Given the description of an element on the screen output the (x, y) to click on. 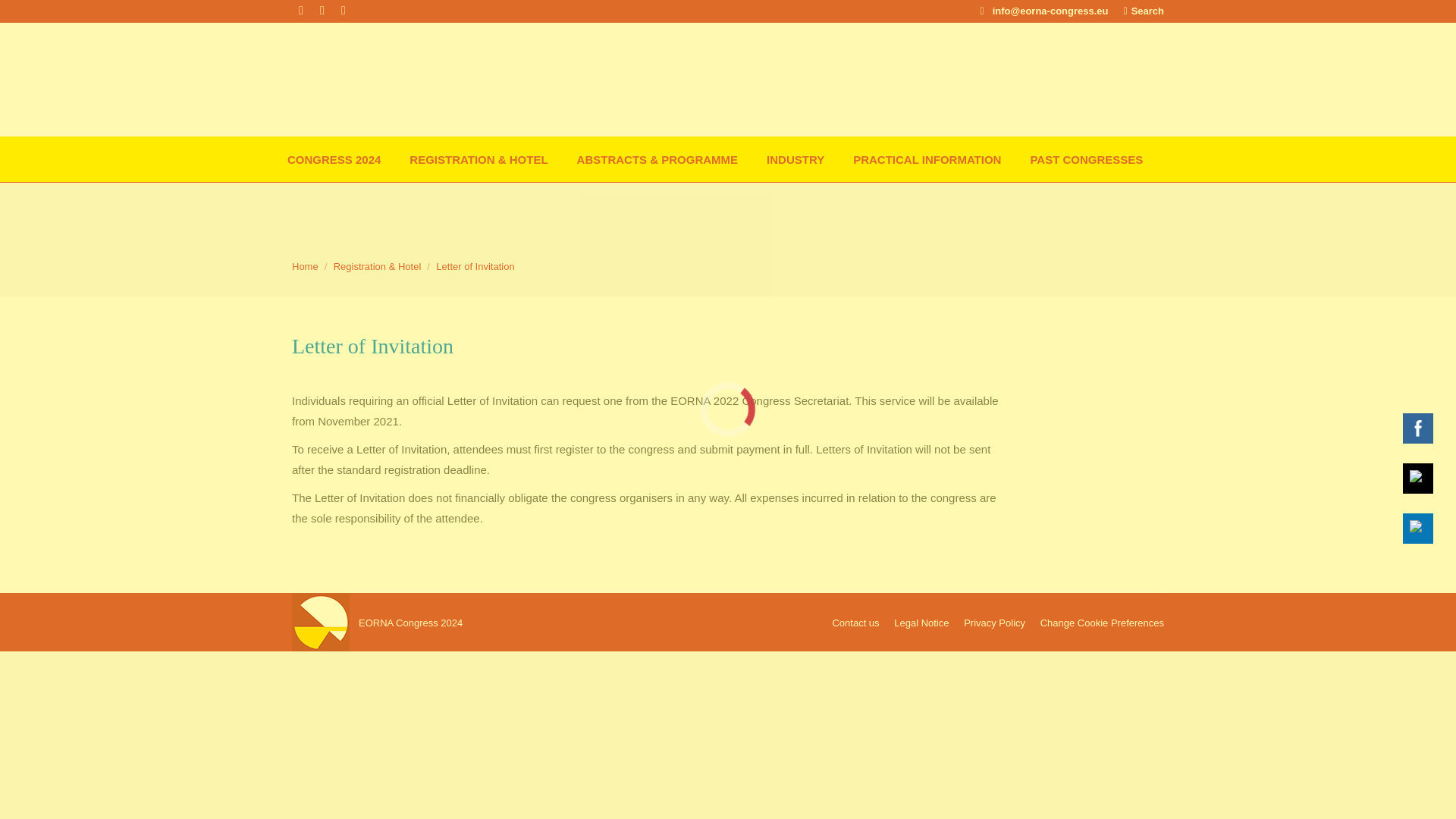
LINKEDIN (1417, 528)
Twitter (1417, 478)
Home (305, 266)
X page opens in new window (301, 10)
Search (1144, 10)
PRACTICAL INFORMATION (929, 158)
Linkedin page opens in new window (343, 10)
Facebook (1417, 428)
Facebook page opens in new window (322, 10)
Linkedin page opens in new window (343, 10)
